Given the description of an element on the screen output the (x, y) to click on. 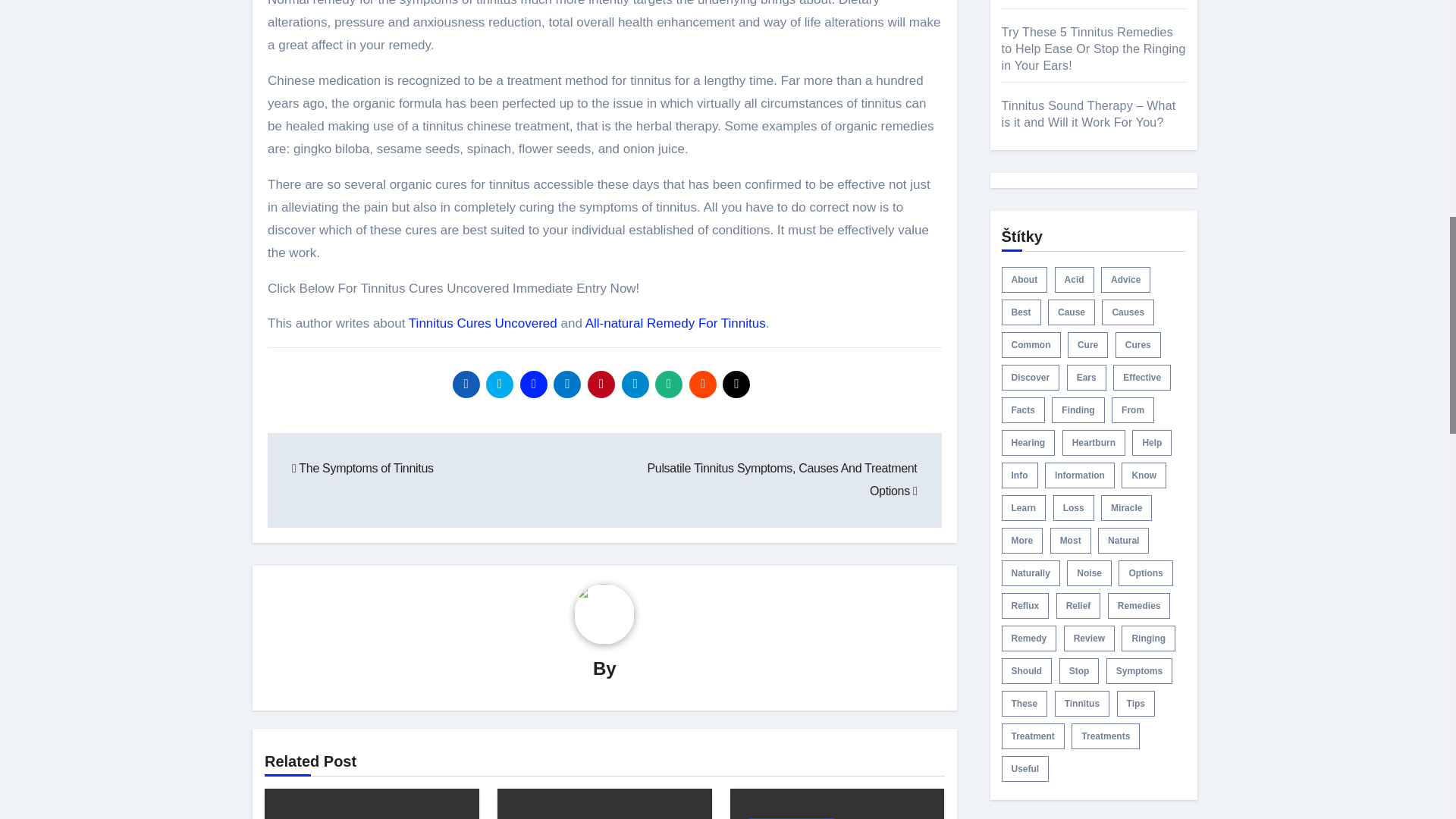
All-natural Remedy For Tinnitus (675, 323)
Pulsatile Tinnitus Symptoms, Causes And Treatment Options (781, 479)
The Symptoms of Tinnitus (362, 468)
Tinnitus Cures Uncovered (483, 323)
